Given the description of an element on the screen output the (x, y) to click on. 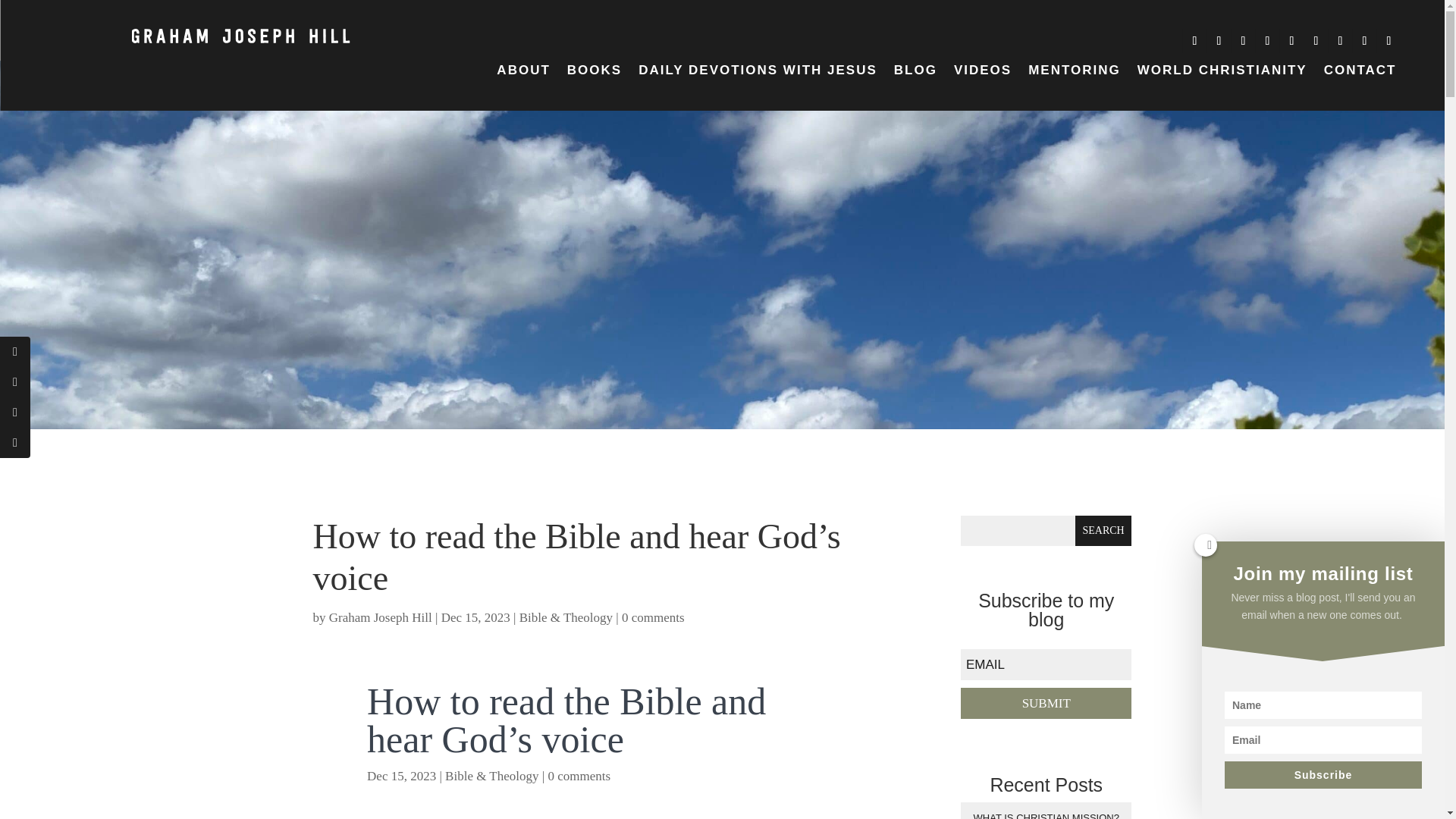
Posts by Graham Joseph Hill (380, 617)
MENTORING (1074, 73)
0 comments (652, 617)
Follow on X (1267, 40)
ABOUT (523, 73)
VIDEOS (982, 73)
Follow on LinkedIn (1291, 40)
Follow on Instagram (1242, 40)
Follow on Amazon (1339, 40)
Follow on Pinterest (1315, 40)
WORLD CHRISTIANITY (1222, 73)
Follow on Youtube (1194, 40)
BLOG (915, 73)
Graham Joseph Hill (380, 617)
Submit (1045, 703)
